Given the description of an element on the screen output the (x, y) to click on. 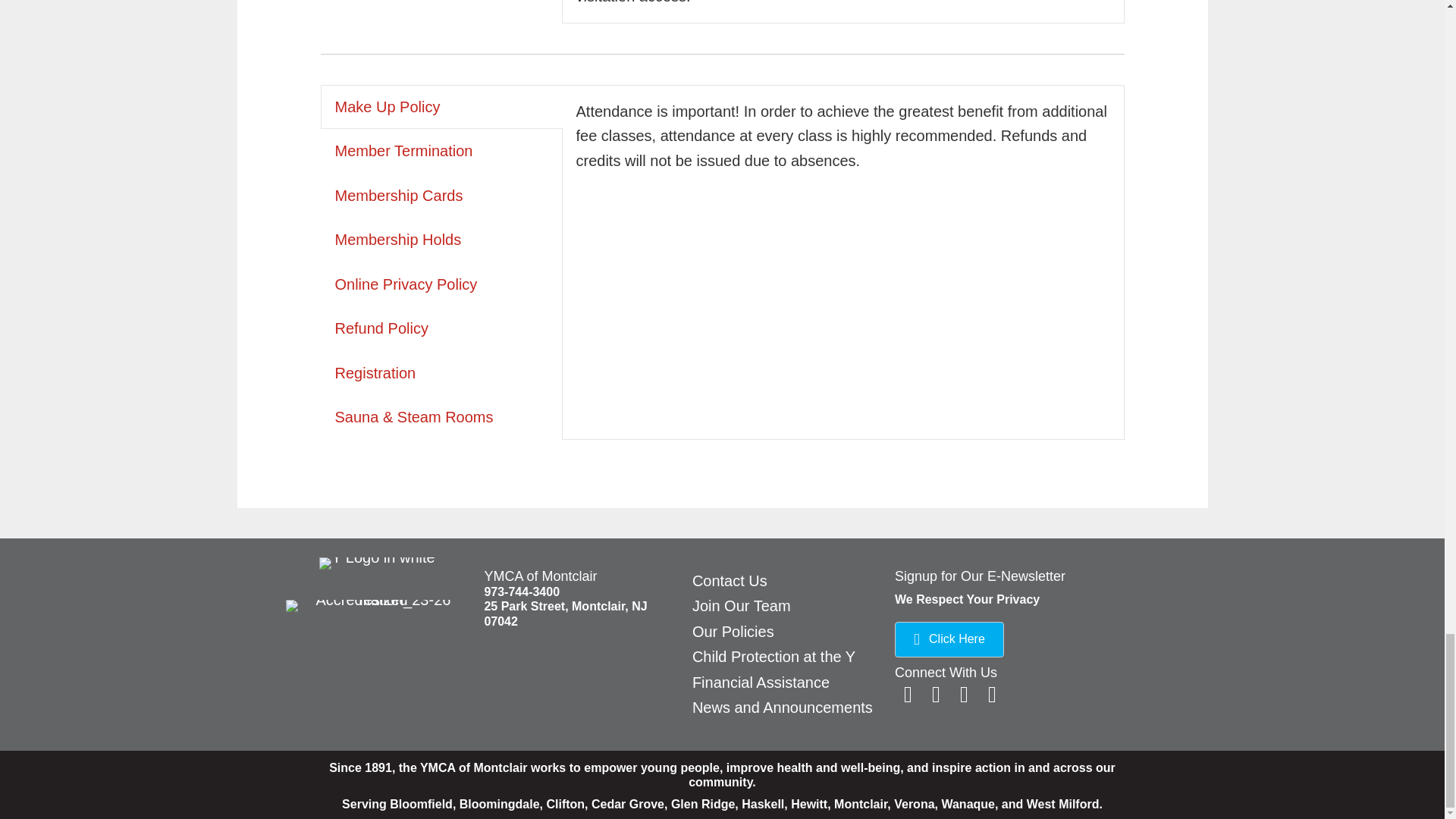
25 Park Street, Montclair, NJ 07042 (564, 613)
Y Logo in white (375, 563)
